Given the description of an element on the screen output the (x, y) to click on. 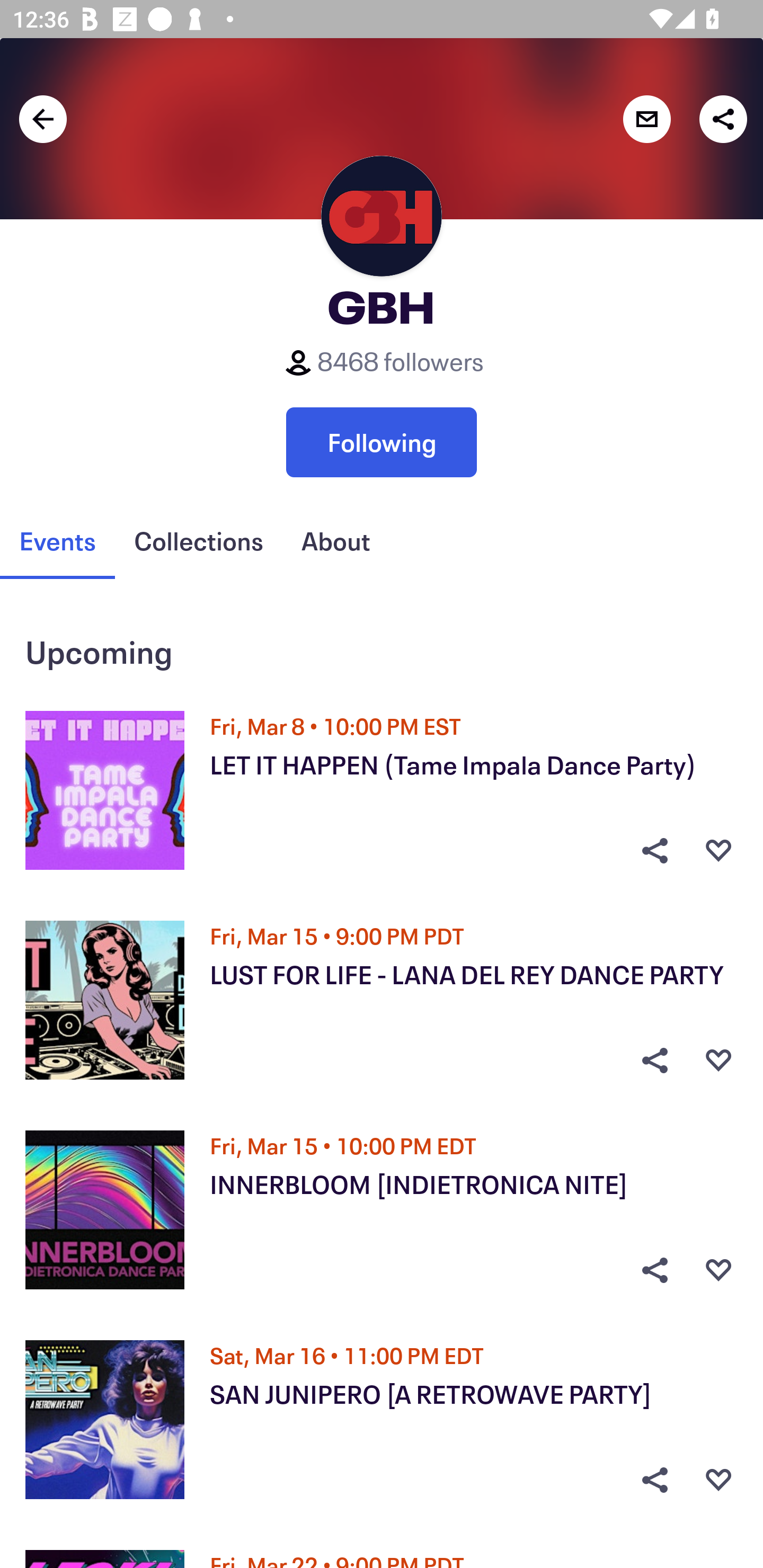
Back navigation arrow (43, 118)
Contact organizer (646, 118)
Share with friends (722, 118)
Following (381, 441)
Collections (198, 540)
About (335, 540)
Share Event (654, 850)
Like event (718, 850)
Share Event (654, 1060)
Like event (718, 1060)
Share Event (654, 1269)
Like event (718, 1269)
Share Event (654, 1480)
Like event (718, 1480)
